Given the description of an element on the screen output the (x, y) to click on. 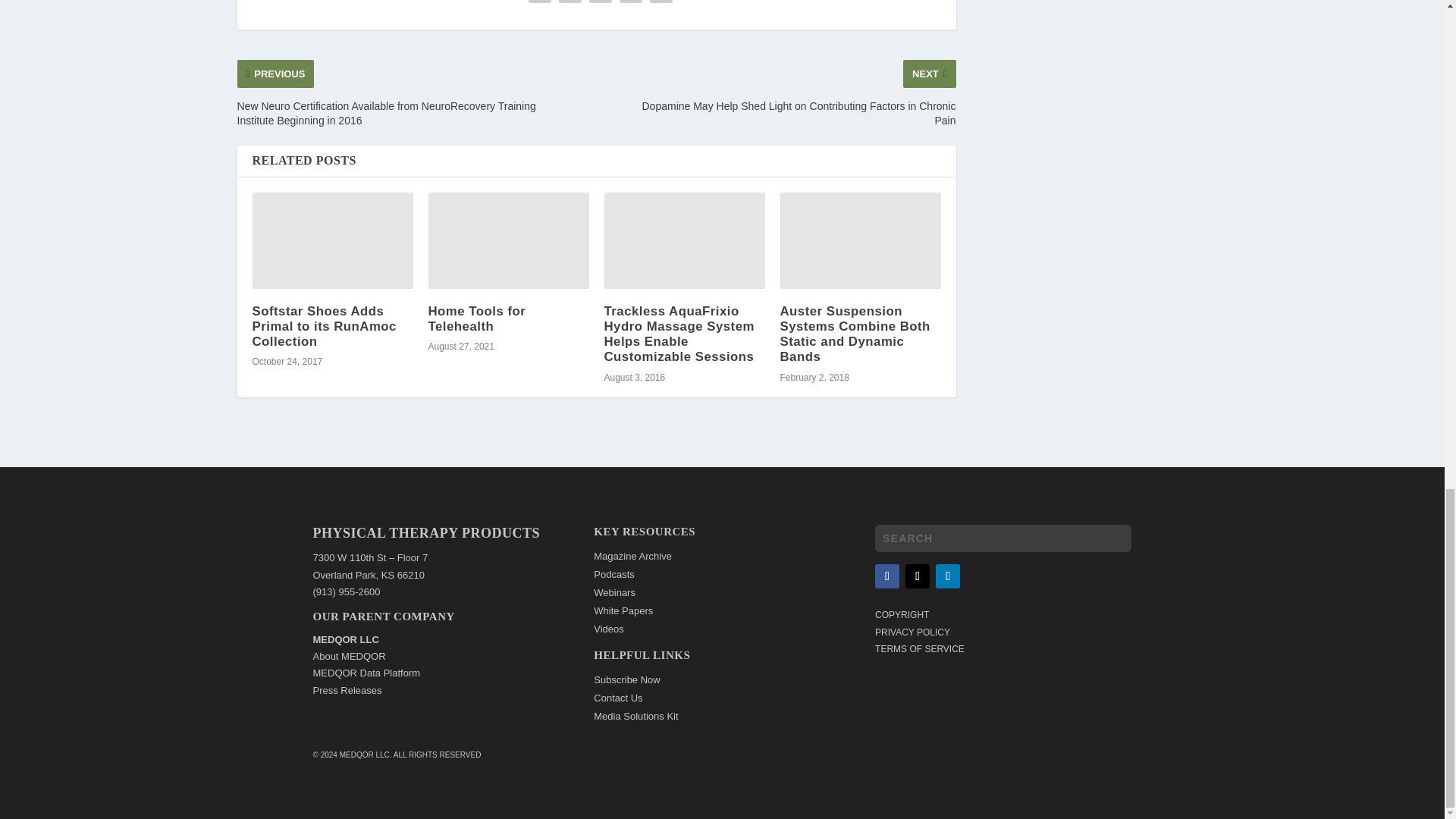
Follow on Facebook (887, 576)
Follow on LinkedIn (947, 576)
Softstar Shoes Adds Primal to its RunAmoc Collection (331, 240)
Home Tools for Telehealth (508, 240)
Follow on X (917, 576)
